Given the description of an element on the screen output the (x, y) to click on. 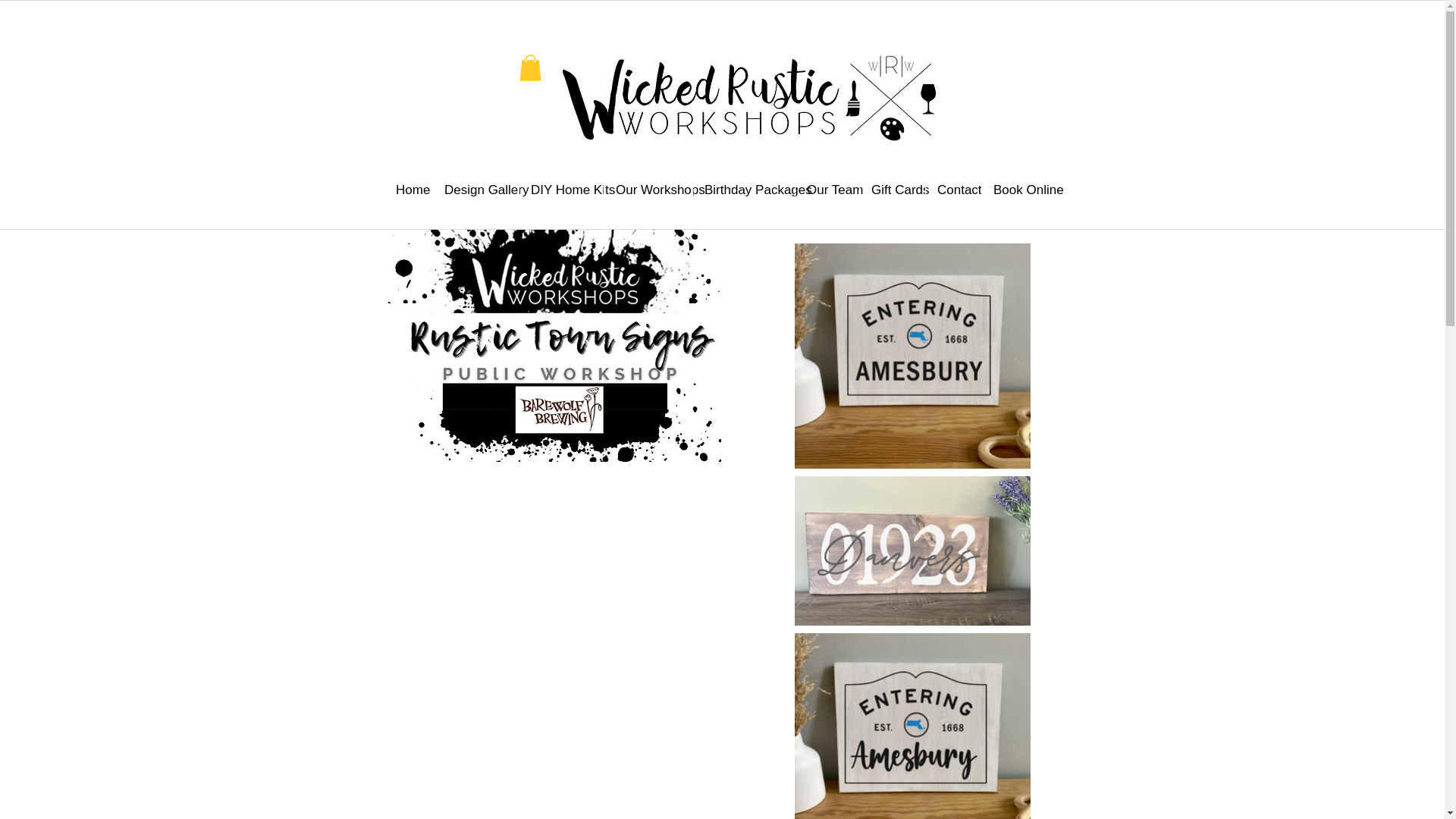
Design Gallery (475, 189)
Gift Cards (891, 189)
Contact (952, 189)
Home (408, 189)
Birthday Packages (743, 189)
Book Online (1019, 189)
DIY Home Kits (561, 189)
Our Workshops (648, 189)
Our Team (826, 189)
